Given the description of an element on the screen output the (x, y) to click on. 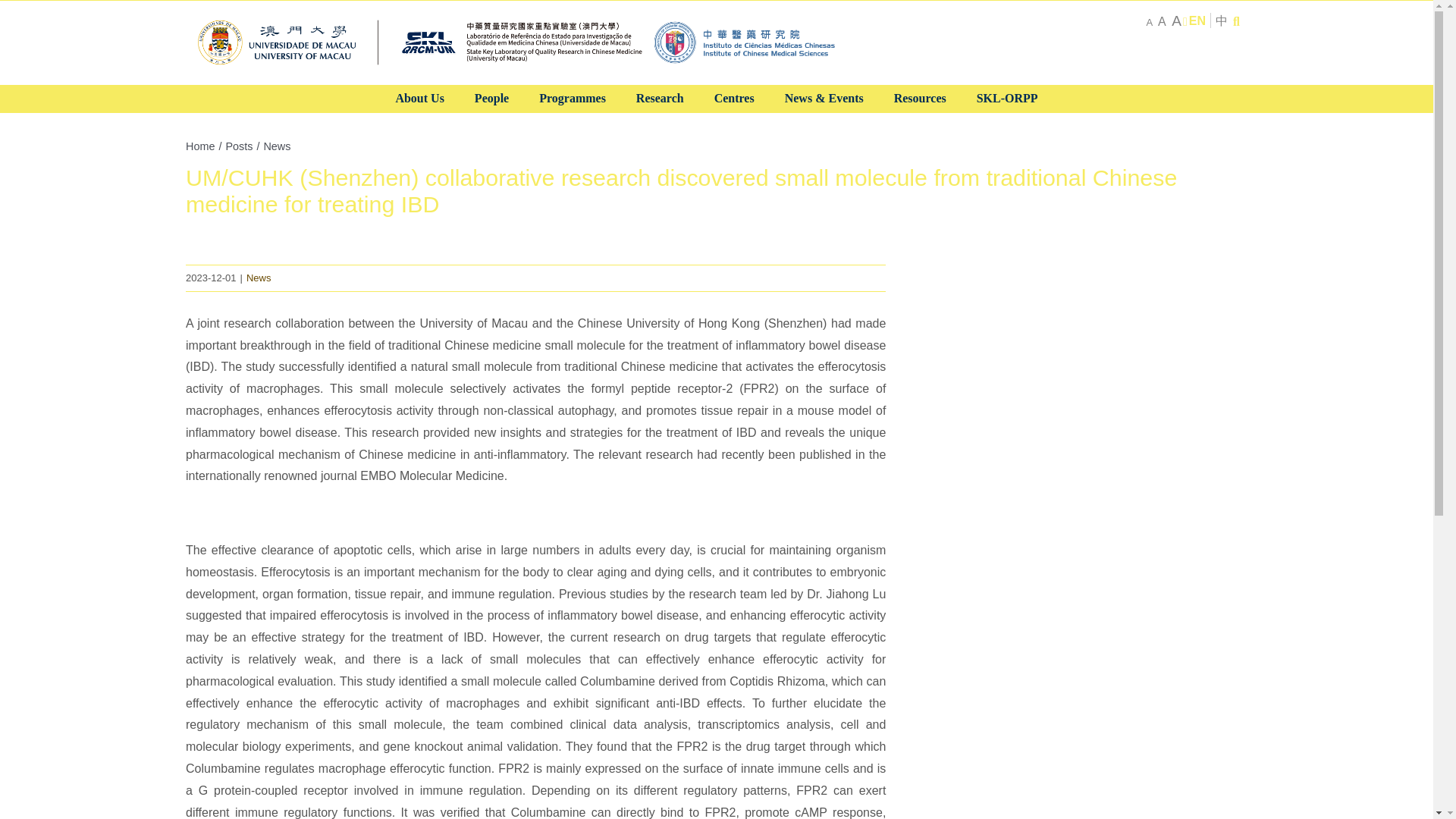
Centres (734, 98)
Programmes (572, 98)
People (492, 98)
EN (1197, 20)
About Us (419, 98)
Research (659, 98)
